Given the description of an element on the screen output the (x, y) to click on. 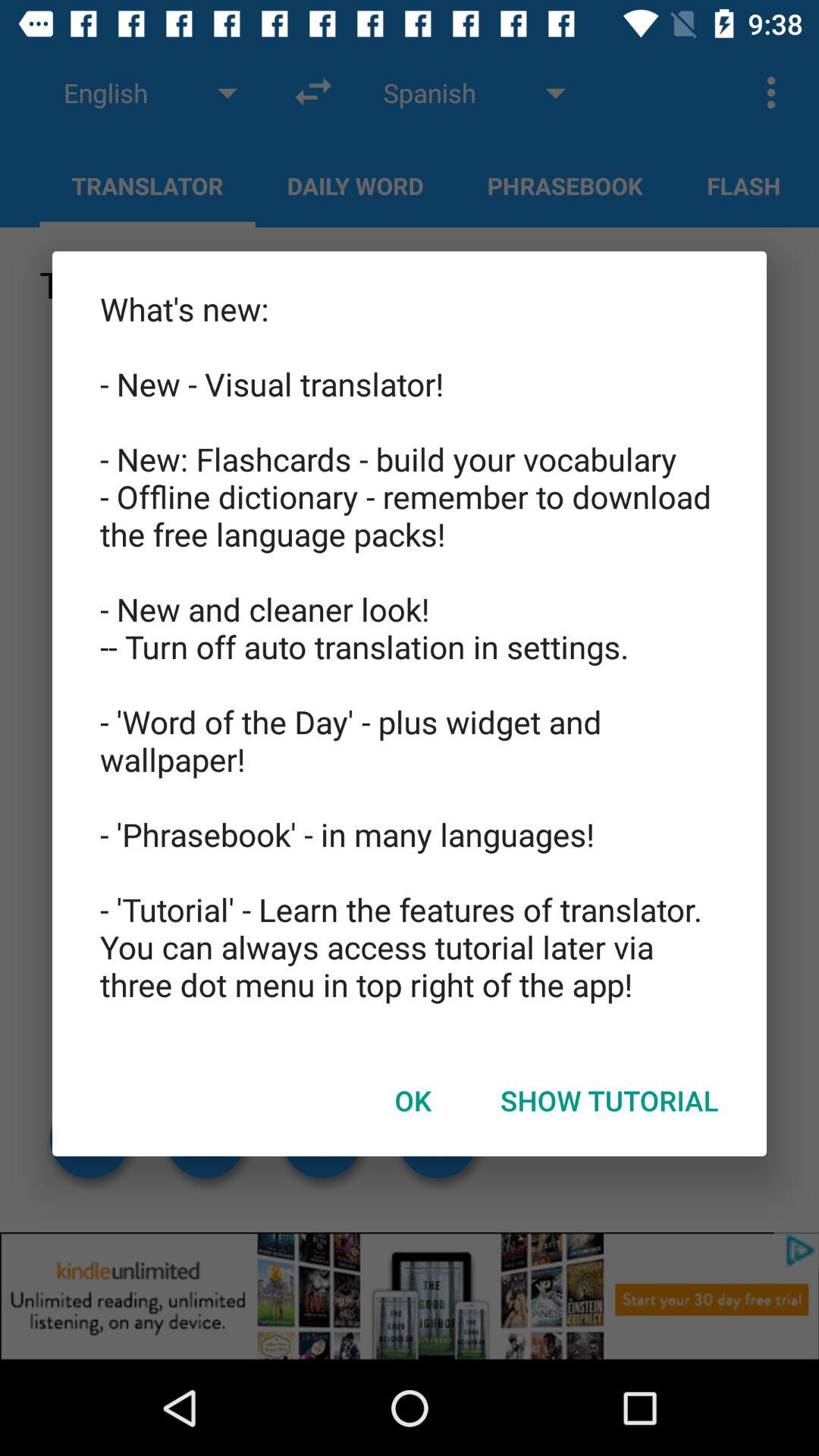
open show tutorial item (609, 1100)
